Given the description of an element on the screen output the (x, y) to click on. 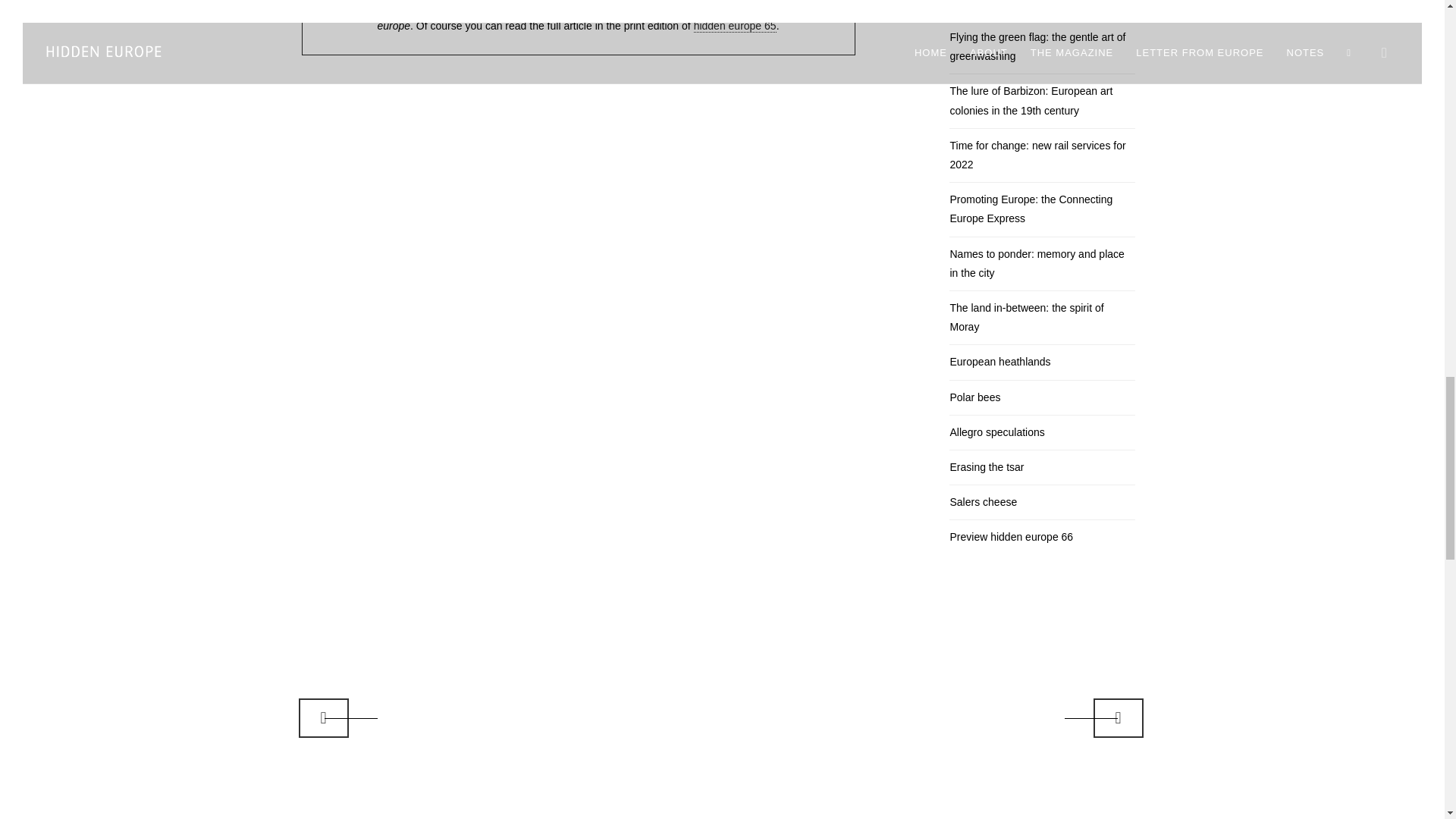
hidden europe 65 (735, 25)
